Given the description of an element on the screen output the (x, y) to click on. 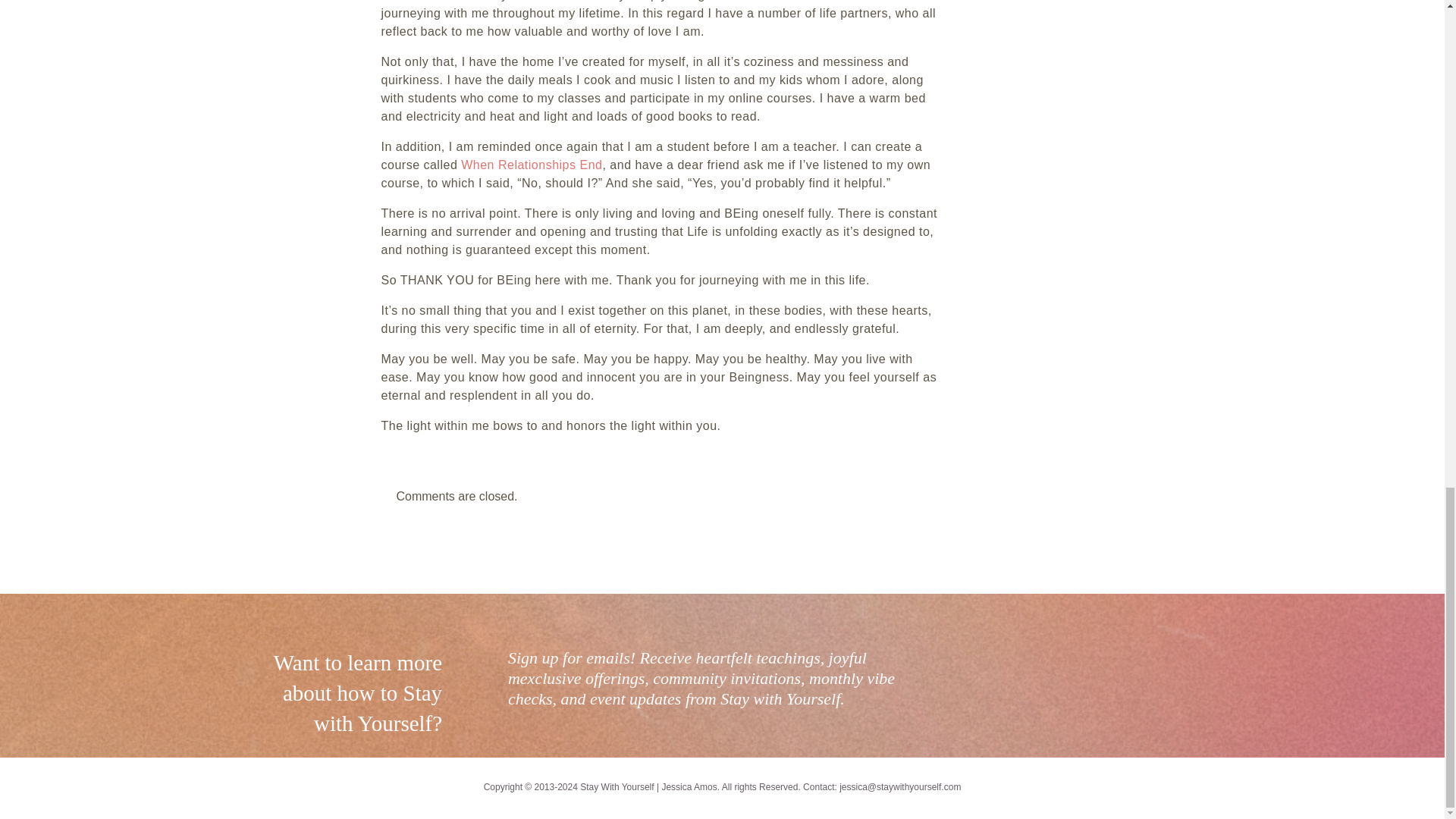
When Relationships End (531, 164)
